Given the description of an element on the screen output the (x, y) to click on. 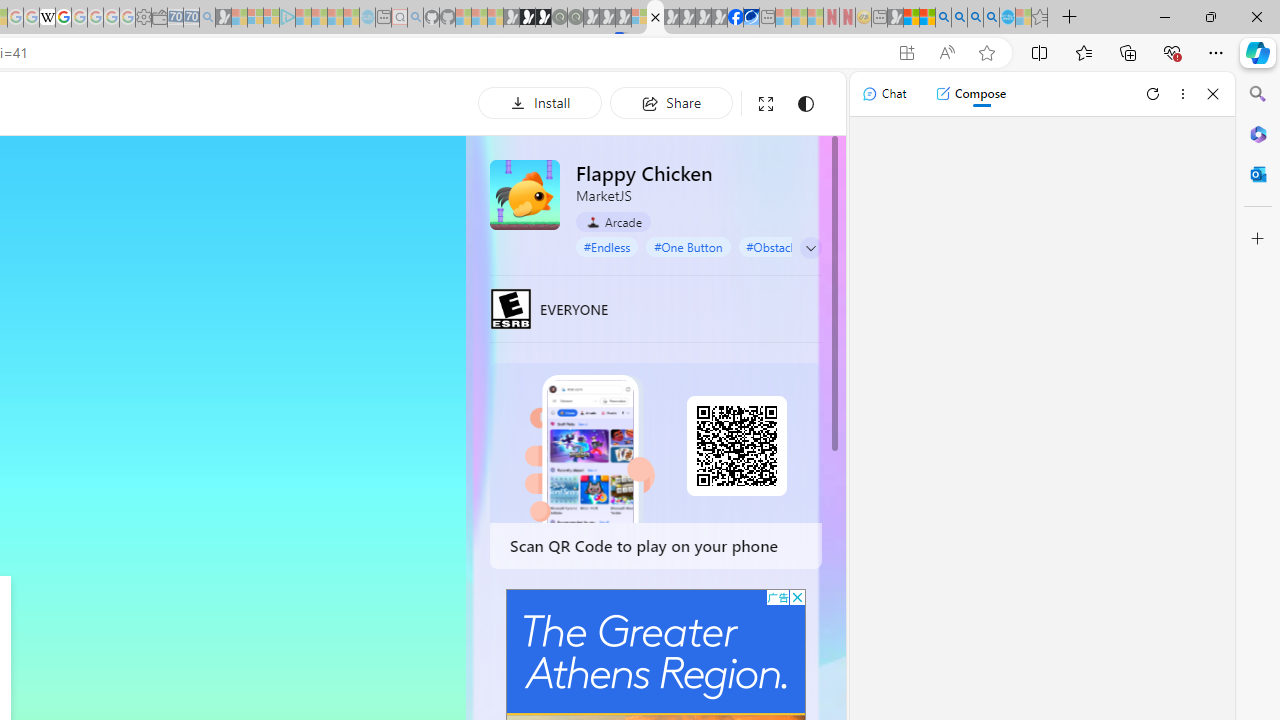
EVERYONE (511, 308)
Bing AI - Search (943, 17)
Full screen (765, 103)
Arcade (613, 222)
Class: control (811, 248)
AutomationID: cbb (797, 596)
